Given the description of an element on the screen output the (x, y) to click on. 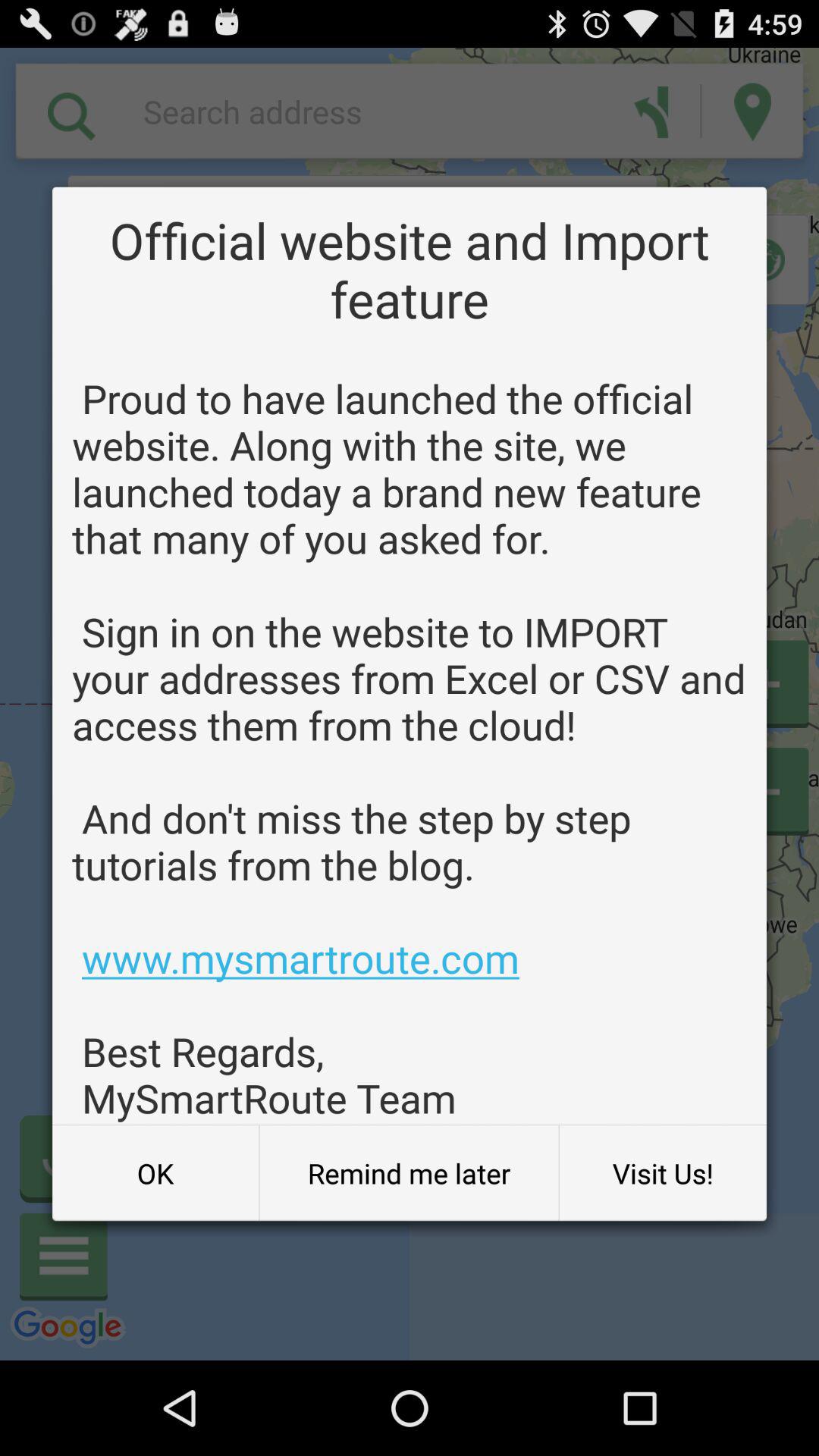
open ok (155, 1173)
